Given the description of an element on the screen output the (x, y) to click on. 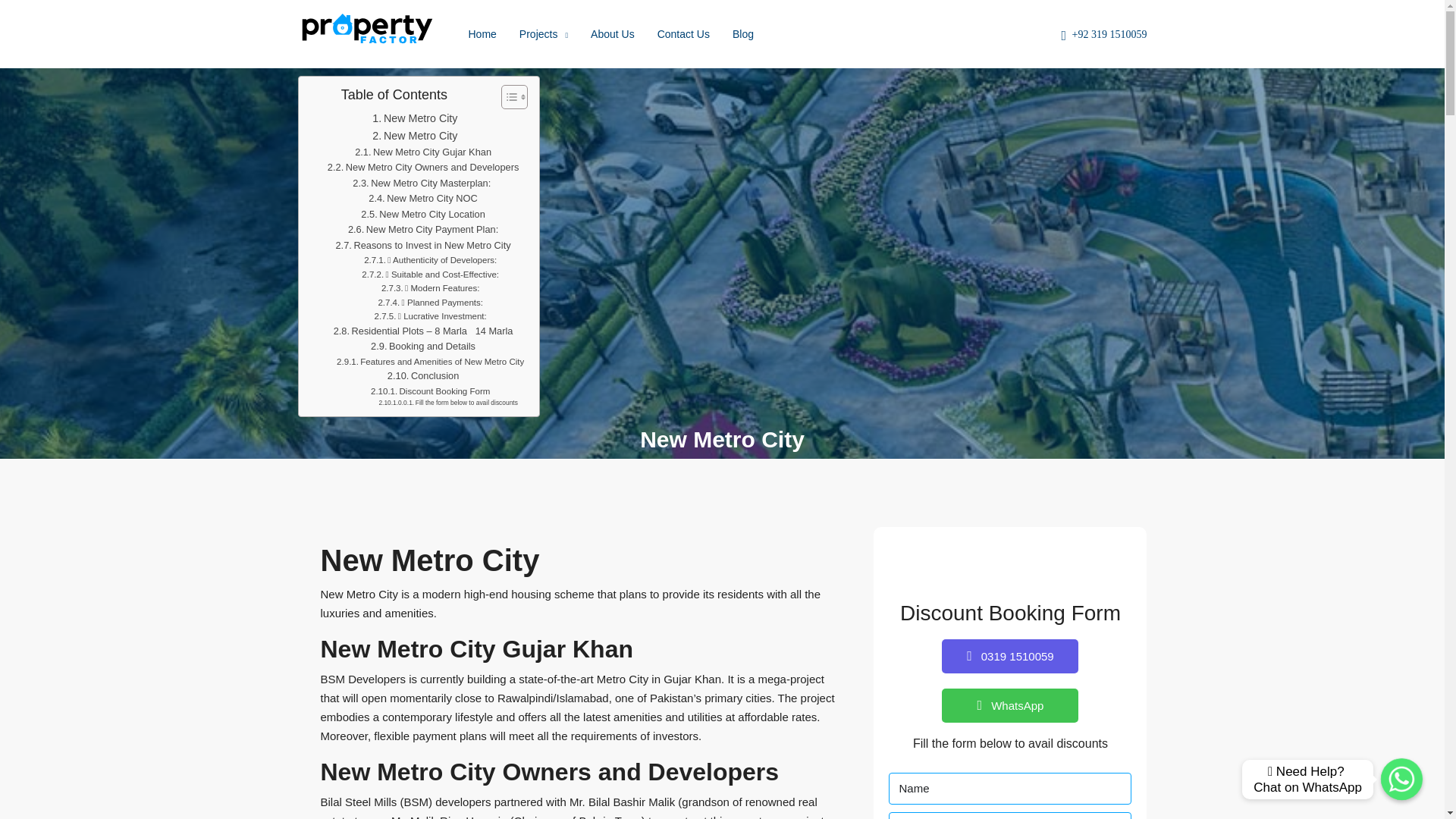
New Metro City (414, 118)
About Us (612, 33)
New Metro City Owners and Developers (423, 167)
New Metro City NOC (422, 198)
Reasons to Invest in New Metro City (422, 245)
New Metro City (414, 135)
New Metro City Location (422, 214)
New Metro City Payment Plan: (422, 229)
Projects (543, 34)
New Metro City Gujar Khan (423, 152)
New Metro City Owners and Developers (423, 167)
New Metro City Masterplan:  (422, 183)
New Metro City (414, 118)
Contact Us (683, 33)
